Given the description of an element on the screen output the (x, y) to click on. 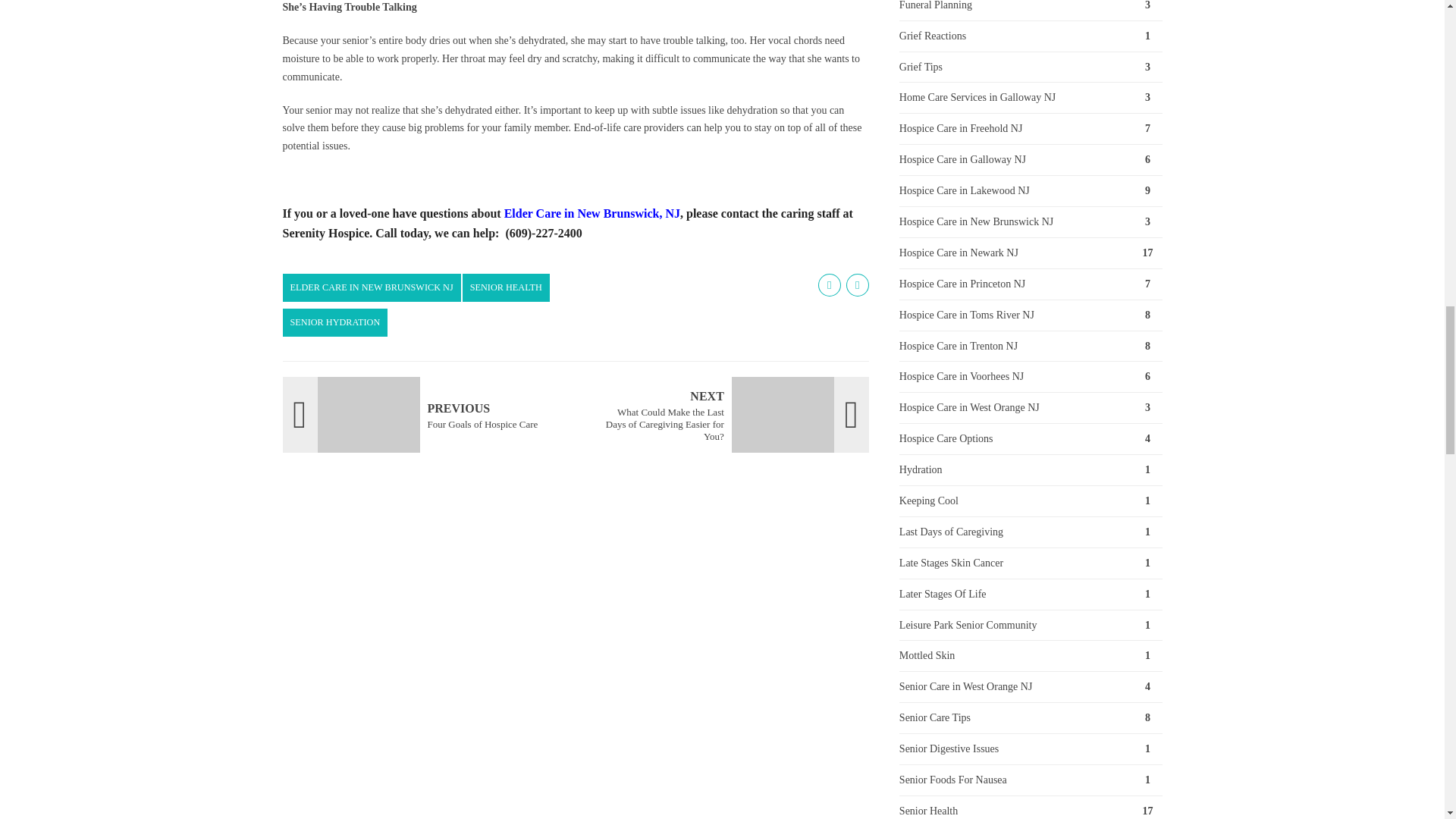
SENIOR HEALTH (506, 287)
ELDER CARE IN NEW BRUNSWICK NJ (371, 287)
SENIOR HYDRATION (423, 414)
Elder Care in New Brunswick, NJ (334, 322)
